Given the description of an element on the screen output the (x, y) to click on. 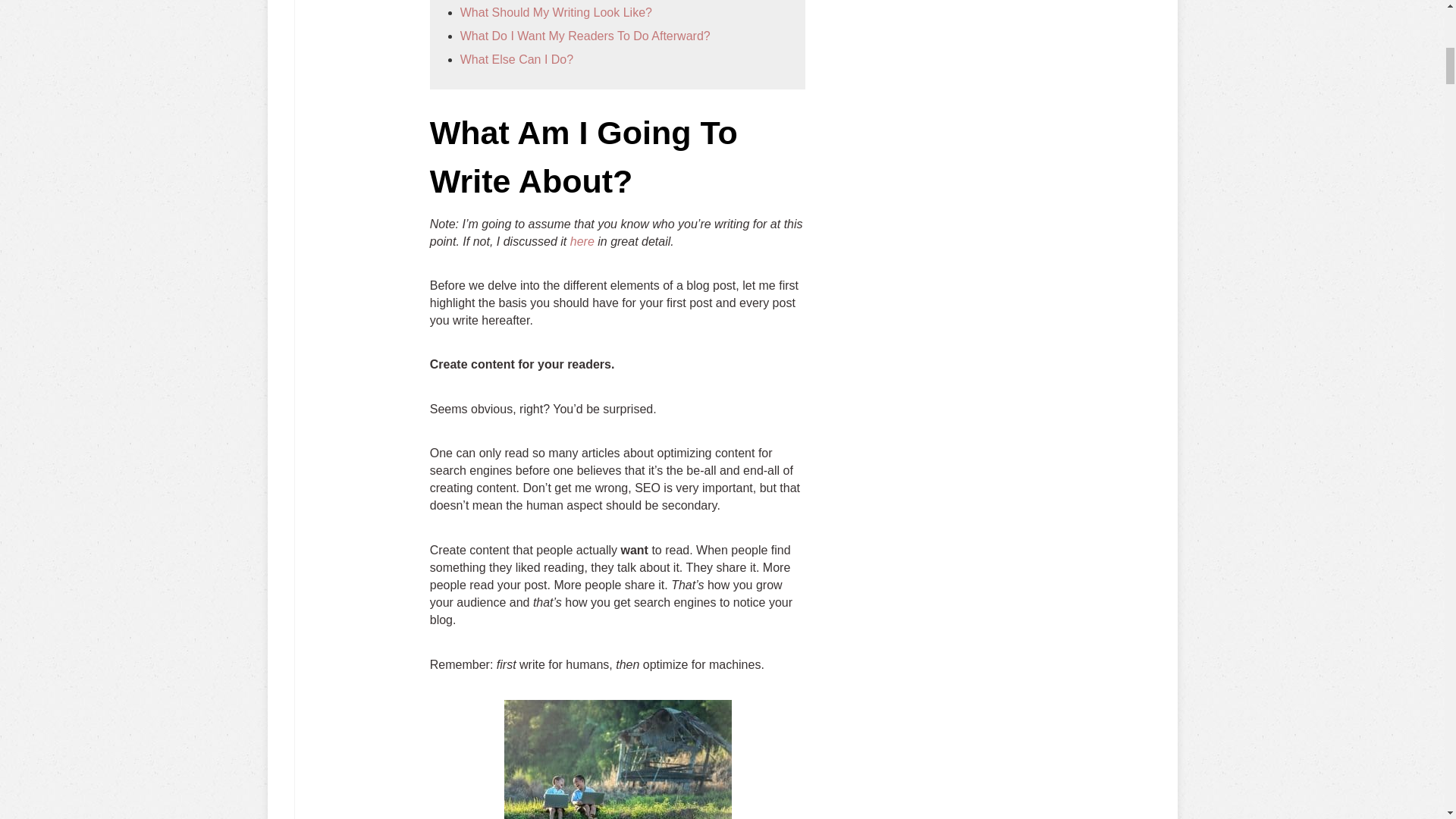
here (582, 241)
What Else Can I Do? (516, 59)
What Should My Writing Look Like? (556, 11)
What Do I Want My Readers To Do Afterward? (585, 35)
